Given the description of an element on the screen output the (x, y) to click on. 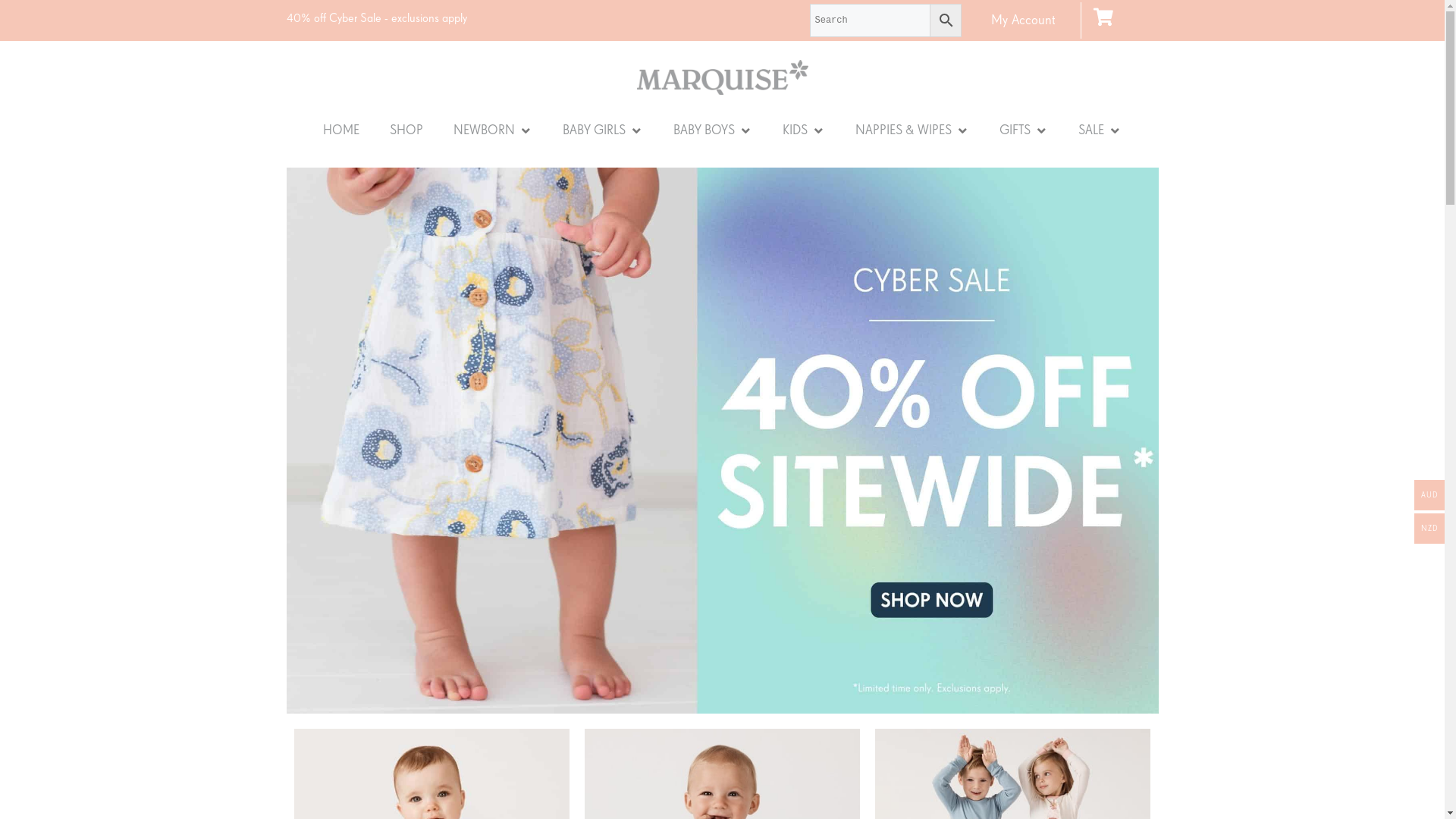
GIFTS Element type: text (1014, 131)
KIDS Element type: text (794, 131)
BABY GIRLS Element type: text (593, 131)
40% off Cyber Sale - exclusions apply Element type: text (547, 19)
SALE Element type: text (1091, 131)
My Account Element type: text (1023, 20)
SHOP Element type: text (406, 131)
BABY BOYS Element type: text (703, 131)
HOME Element type: text (341, 131)
NAPPIES & WIPES Element type: text (903, 131)
NEWBORN Element type: text (483, 131)
